Given the description of an element on the screen output the (x, y) to click on. 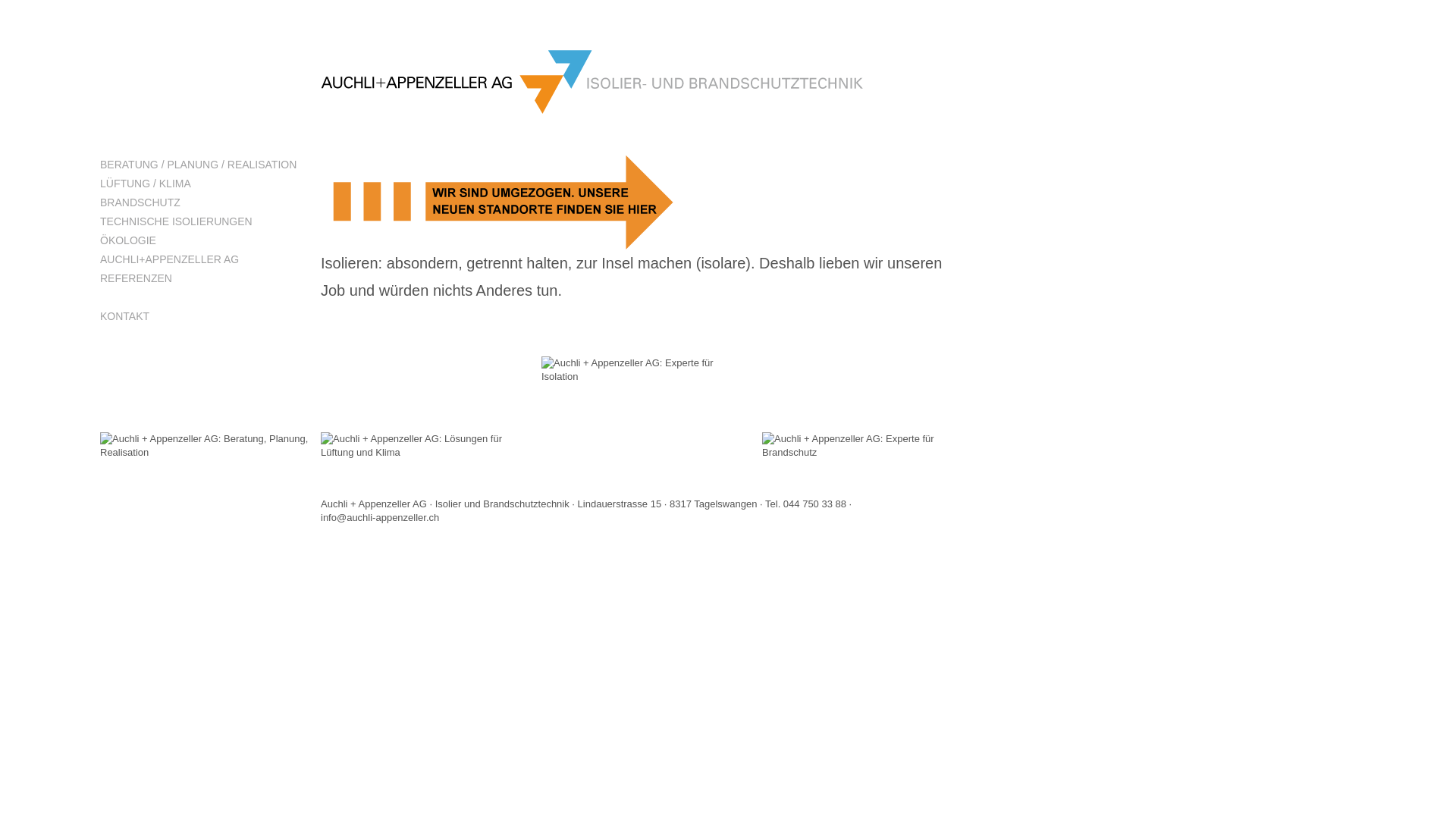
REFERENZEN Element type: text (204, 278)
info@auchli-appenzeller.ch Element type: text (379, 517)
KONTAKT Element type: text (204, 316)
AUCHLI+APPENZELLER AG Element type: text (204, 259)
TECHNISCHE ISOLIERUNGEN Element type: text (204, 221)
BERATUNG / PLANUNG / REALISATION Element type: text (204, 164)
BRANDSCHUTZ Element type: text (204, 202)
